Given the description of an element on the screen output the (x, y) to click on. 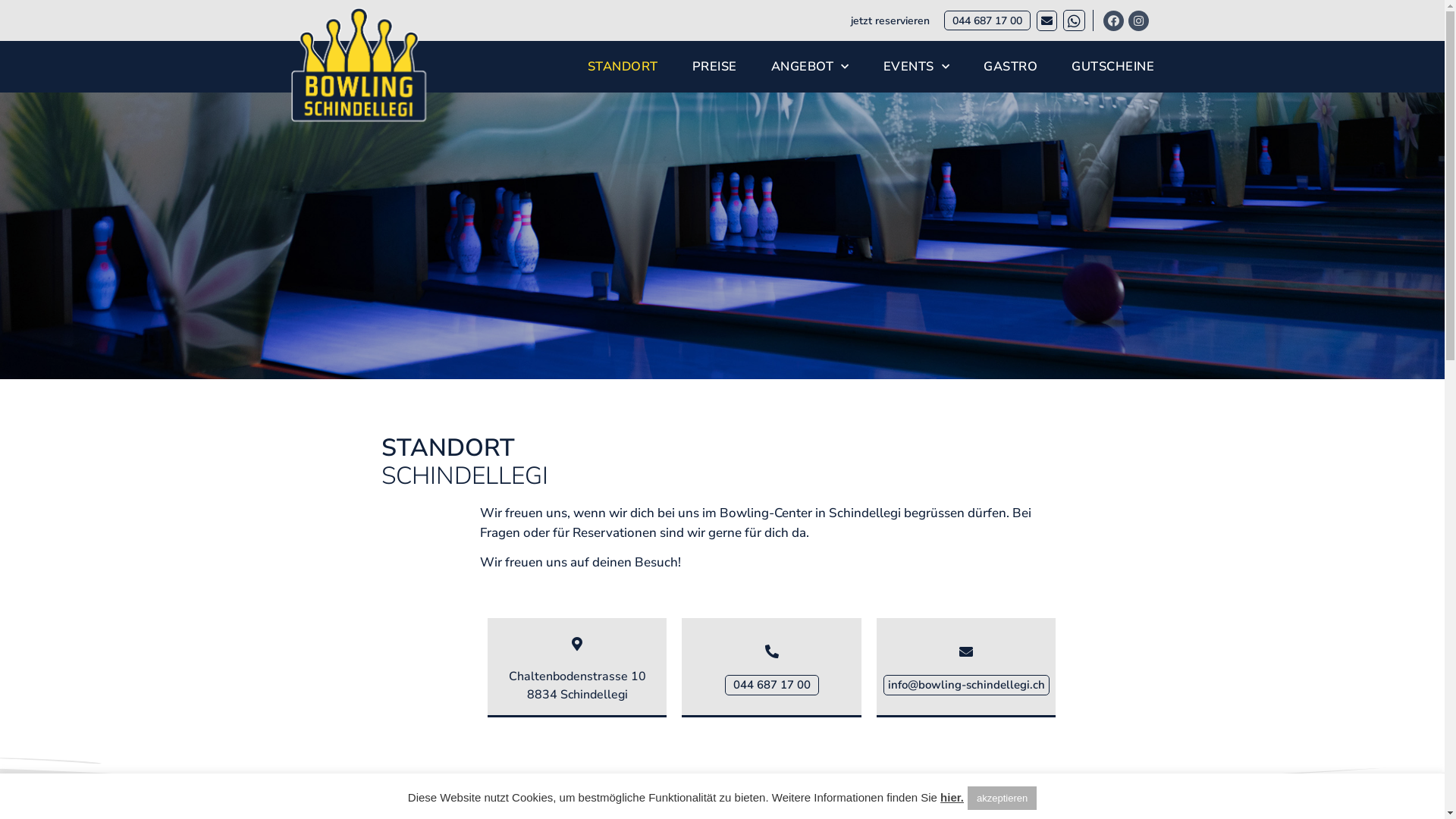
EVENTS Element type: text (916, 66)
ANGEBOT Element type: text (810, 66)
GASTRO Element type: text (1010, 66)
PREISE Element type: text (714, 66)
akzeptieren Element type: text (1001, 797)
info@bowling-schindellegi.ch Element type: text (966, 684)
hier. Element type: text (951, 796)
044 687 17 00 Element type: text (987, 20)
044 687 17 00 Element type: text (771, 684)
GUTSCHEINE Element type: text (1112, 66)
STANDORT Element type: text (622, 66)
